Given the description of an element on the screen output the (x, y) to click on. 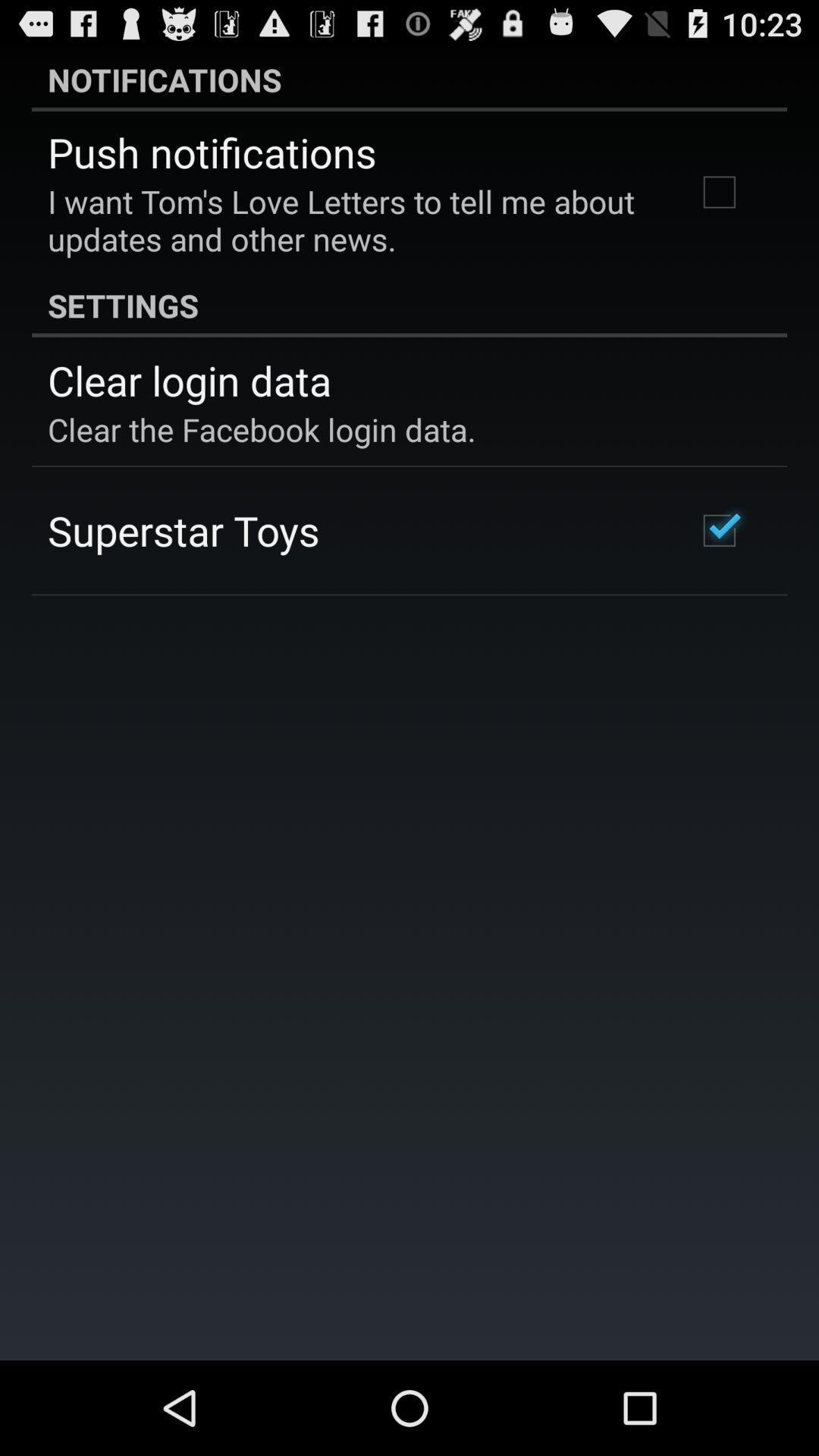
turn off icon below notifications icon (211, 151)
